Given the description of an element on the screen output the (x, y) to click on. 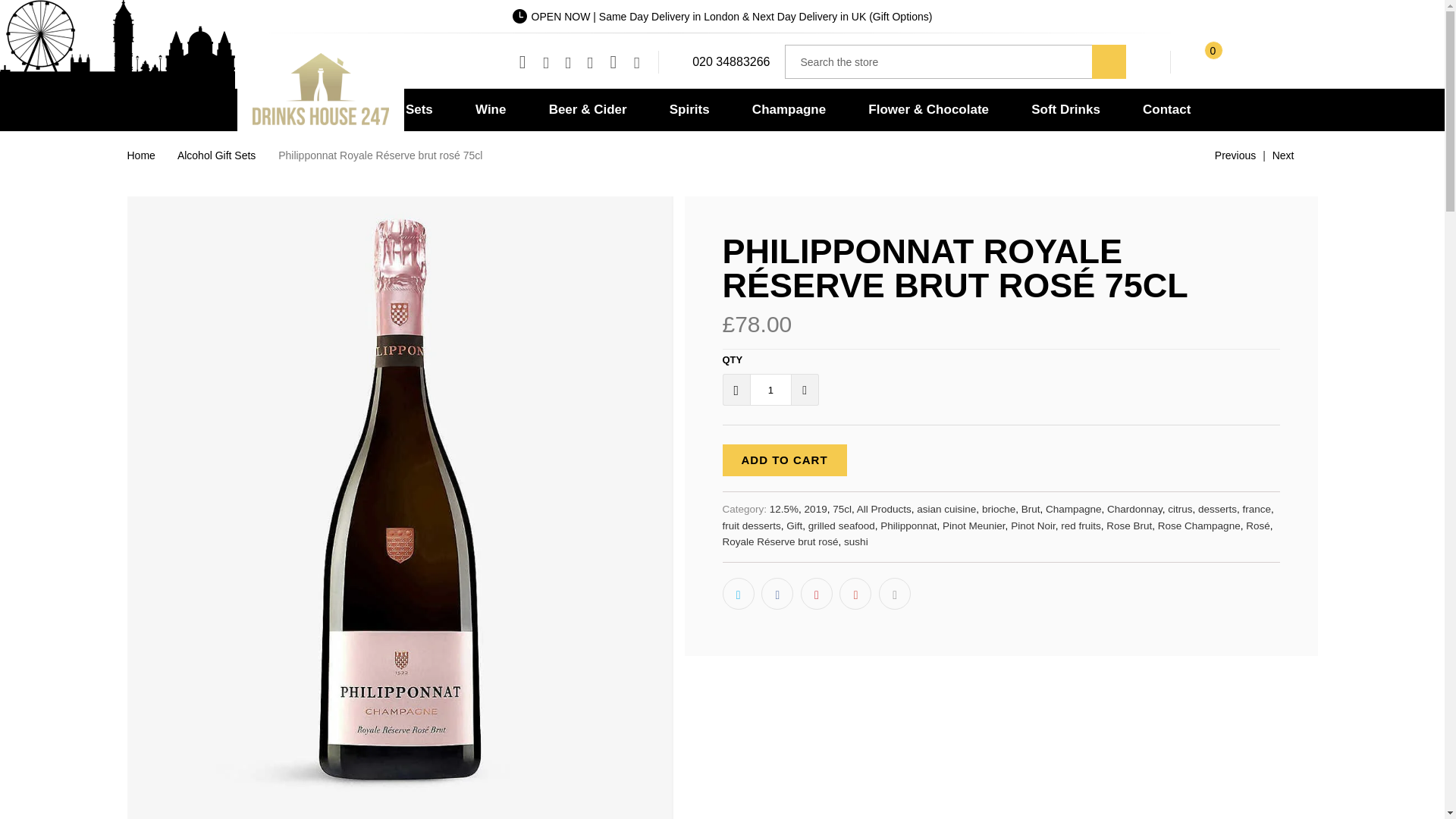
Previous (1222, 155)
Products tagged All Products (884, 509)
Next (1294, 155)
Alcohol Gift Sets (216, 155)
Drinks House 247  (319, 90)
Drinks House 247  on YouTube (567, 62)
Products tagged asian cuisine (946, 509)
Products tagged 2019 (816, 509)
1 (770, 389)
My Account  (1153, 51)
Products tagged 75cl (841, 509)
Email Drinks House 247  (636, 62)
Drinks House 247  on Facebook (545, 62)
Drinks House 247  on Pinterest (590, 62)
Drinks House 247  (141, 155)
